Given the description of an element on the screen output the (x, y) to click on. 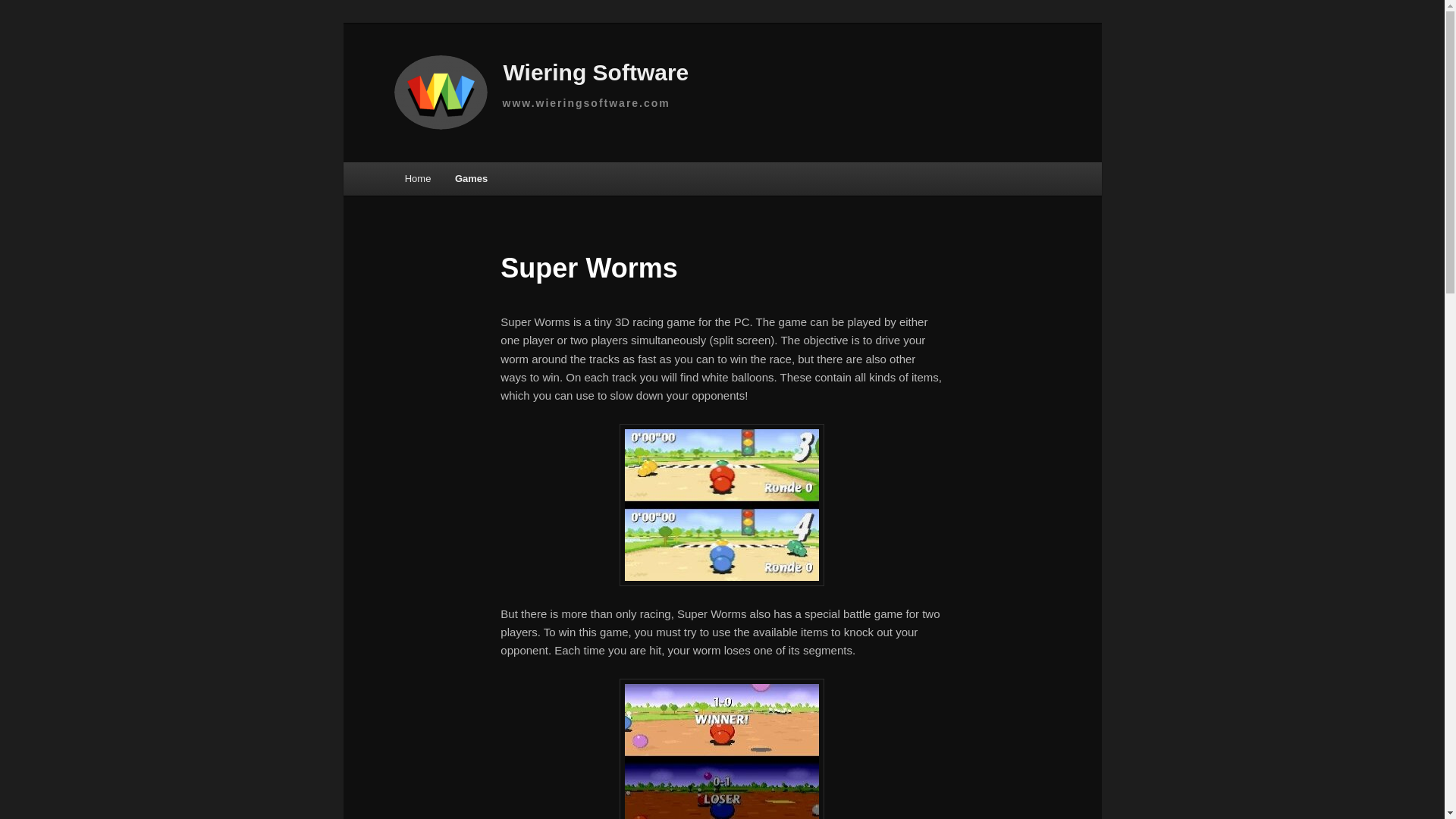
Games (470, 178)
Wiering Software (544, 74)
Home (417, 178)
